Given the description of an element on the screen output the (x, y) to click on. 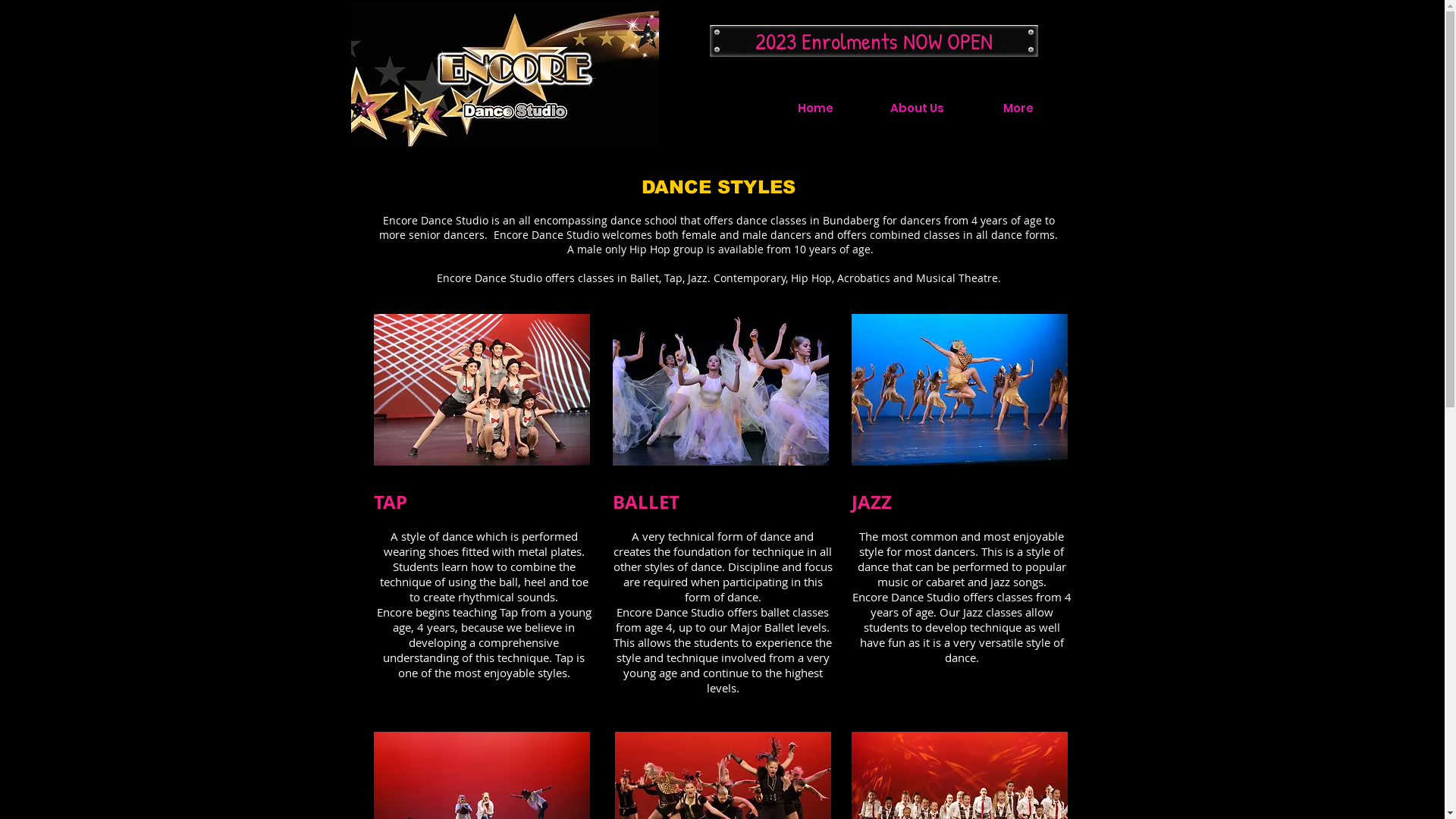
Jazz (2).jpg Element type: hover (958, 389)
Classical Ballet (2).JPG Element type: hover (720, 389)
Tap.jpg Element type: hover (481, 389)
About Us Element type: text (916, 108)
Home Element type: text (815, 108)
